Given the description of an element on the screen output the (x, y) to click on. 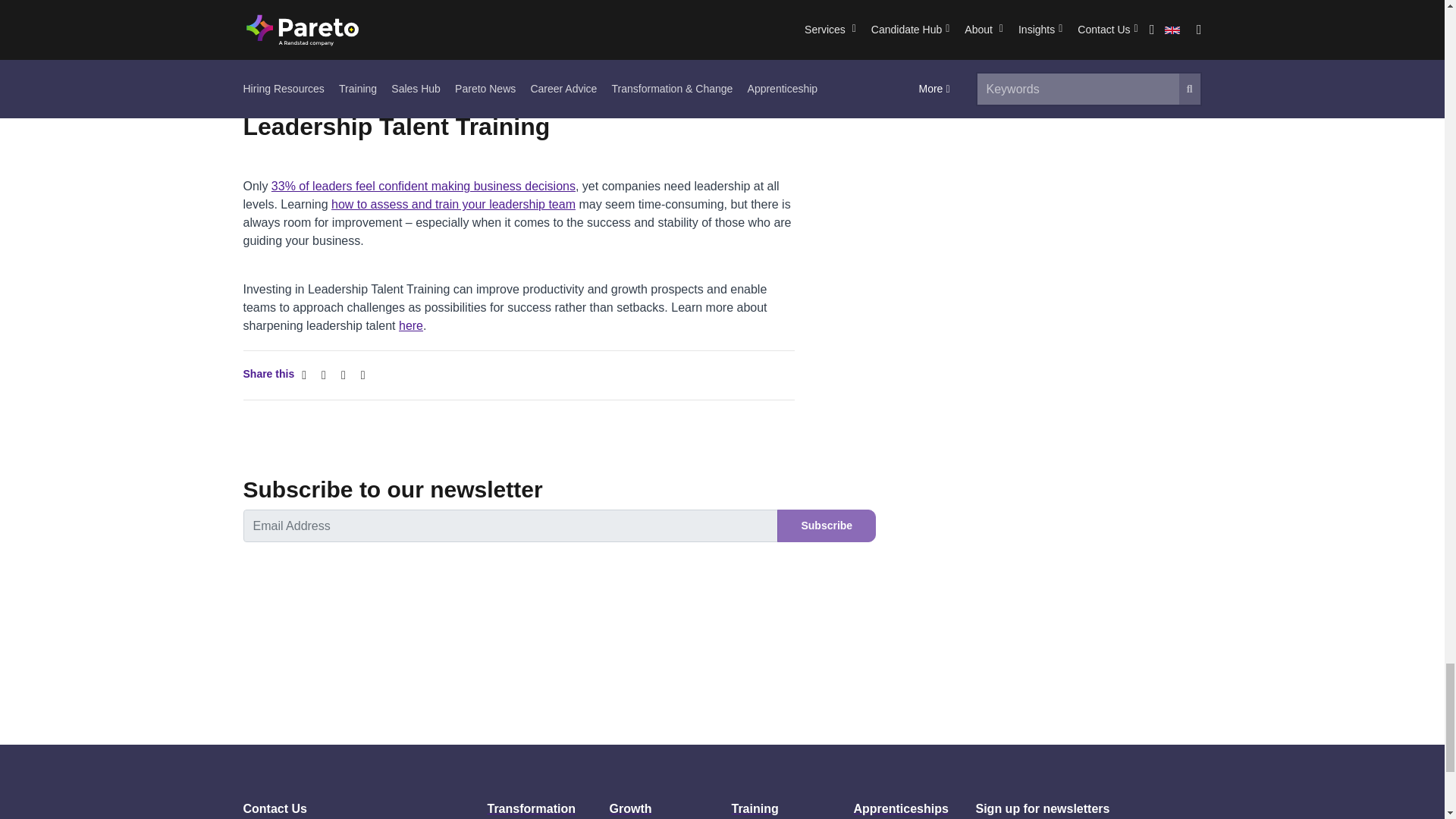
Subscribe (826, 525)
